Given the description of an element on the screen output the (x, y) to click on. 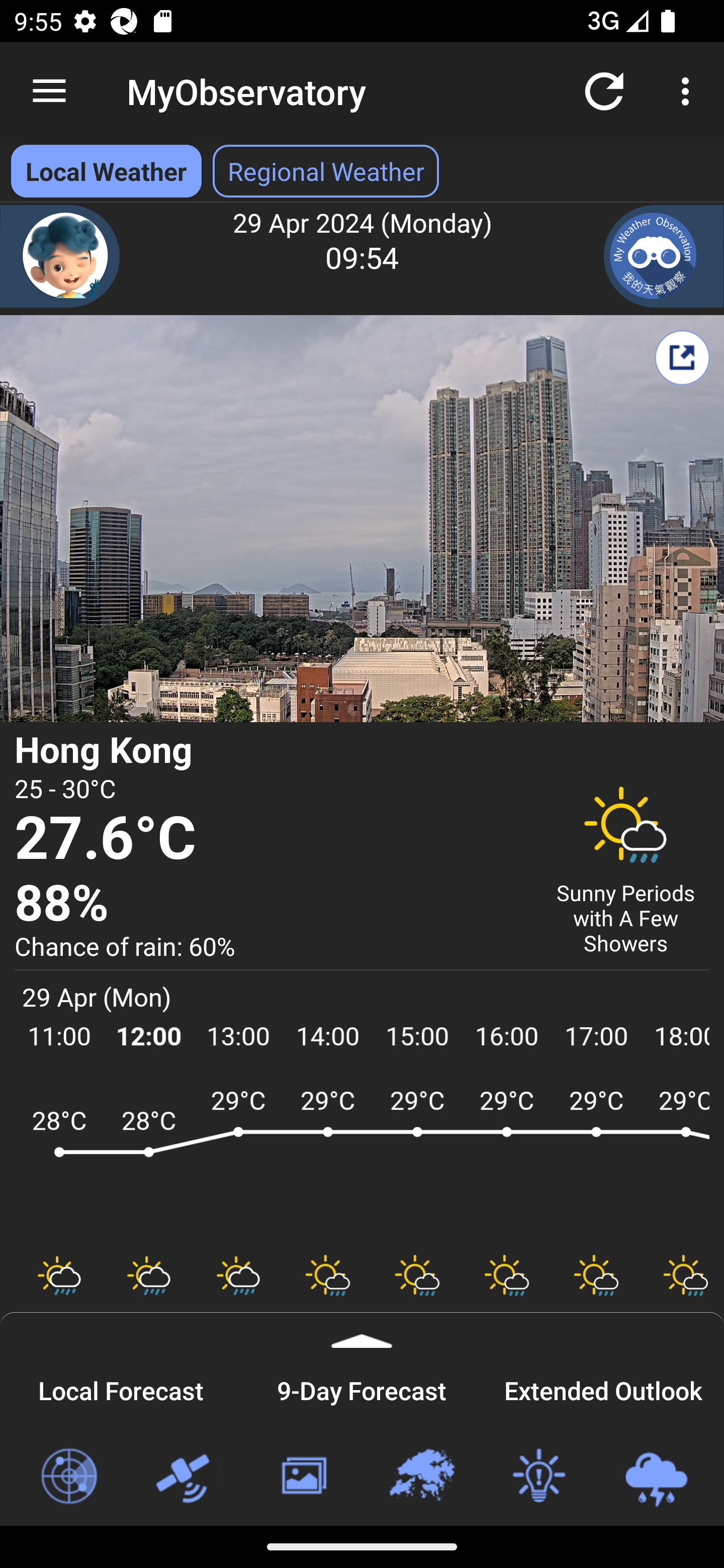
Navigate up (49, 91)
Refresh (604, 90)
More options (688, 90)
Local Weather Local Weather selected (105, 170)
Regional Weather Select Regional Weather (325, 170)
Chatbot (60, 256)
My Weather Observation (663, 256)
Share My Weather Report (681, 357)
27.6°C Temperature
27.6 degree Celsius (270, 839)
88% Relative Humidity
88 percent (270, 903)
ARWF (361, 1160)
Expand (362, 1330)
Local Forecast (120, 1387)
Extended Outlook (603, 1387)
Radar Images (68, 1476)
Satellite Images (185, 1476)
Weather Photos (302, 1476)
Regional Weather (420, 1476)
Weather Tips (537, 1476)
Loc-based Rain & Lightning Forecast (655, 1476)
